Given the description of an element on the screen output the (x, y) to click on. 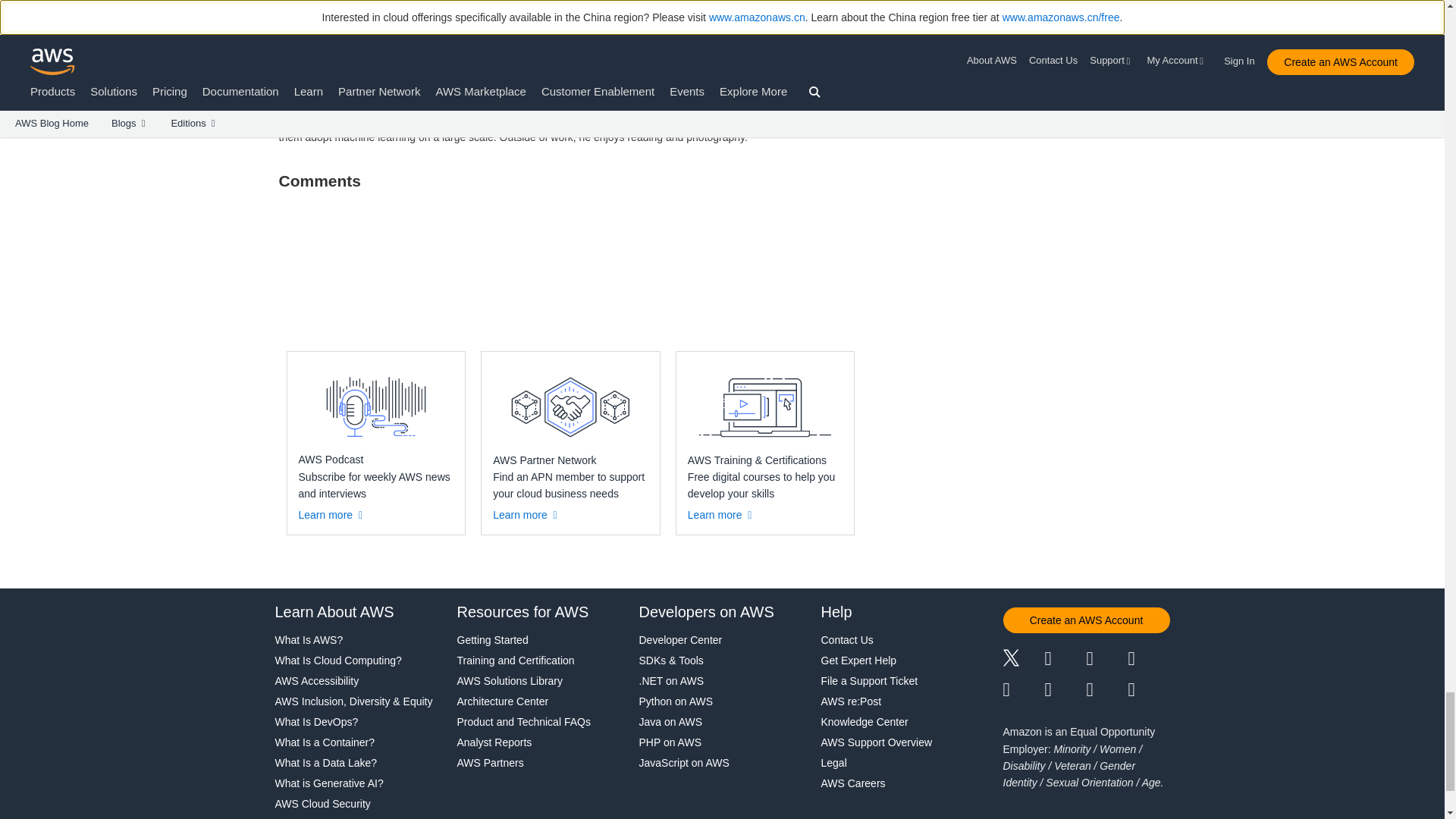
Instagram (1149, 659)
Email (1149, 690)
Linkedin (1106, 659)
Facebook (1065, 659)
Twitter (1023, 659)
Twitch (1023, 690)
Podcast (1106, 690)
YouTube (1065, 690)
